Given the description of an element on the screen output the (x, y) to click on. 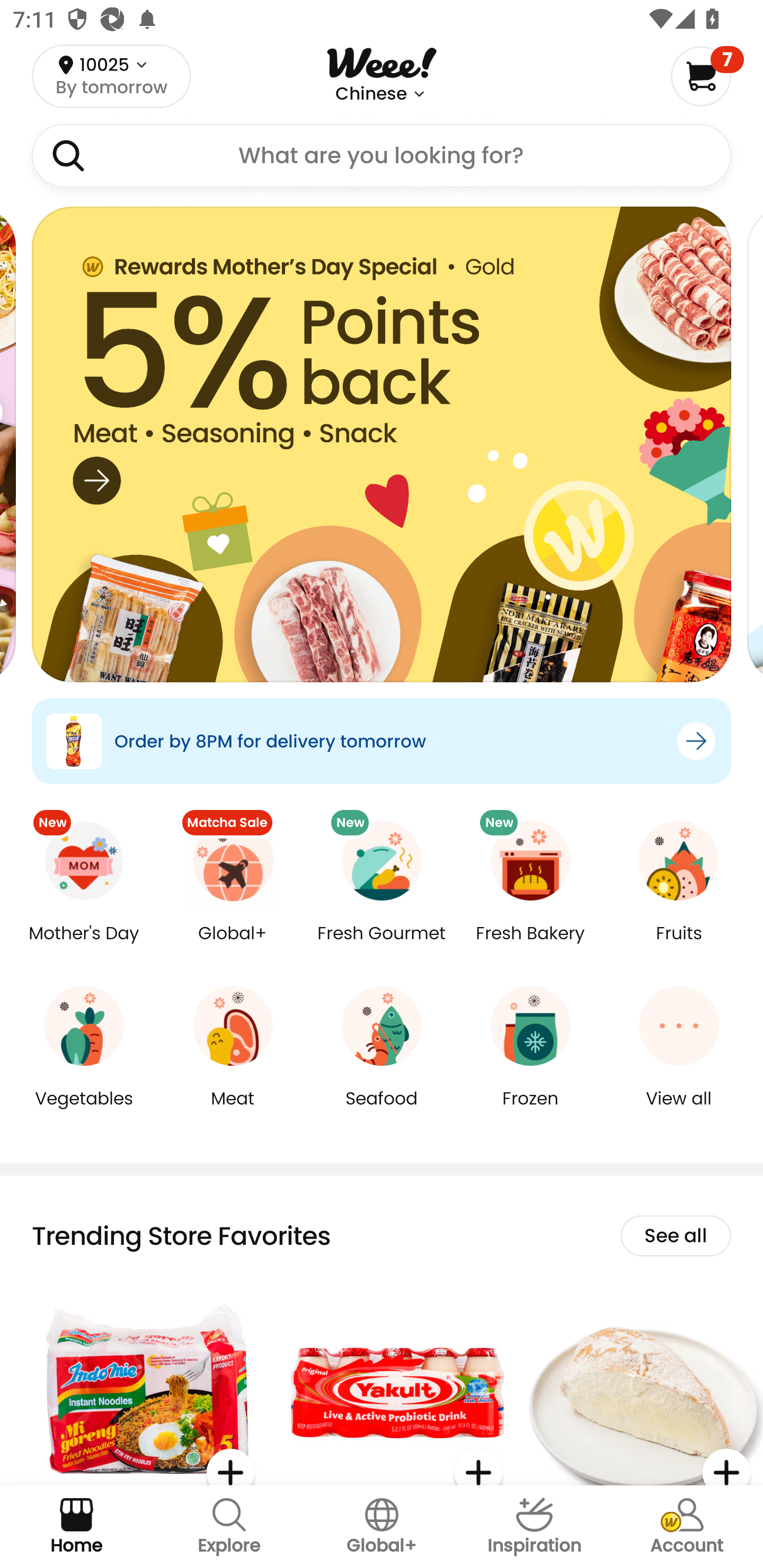
10025 By tomorrow (111, 75)
7 (706, 75)
Chinese (370, 93)
What are you looking for? (381, 155)
Order by 8PM for delivery tomorrow (381, 740)
Mother's Day (83, 946)
Global+ (232, 946)
Fresh Gourmet (381, 946)
Fresh Bakery (530, 946)
Fruits (678, 946)
Vegetables (83, 1111)
Meat (232, 1111)
Seafood (381, 1111)
Frozen (530, 1111)
View all (678, 1111)
Home (76, 1526)
Explore (228, 1526)
Global+ (381, 1526)
Inspiration (533, 1526)
Account (686, 1526)
